Given the description of an element on the screen output the (x, y) to click on. 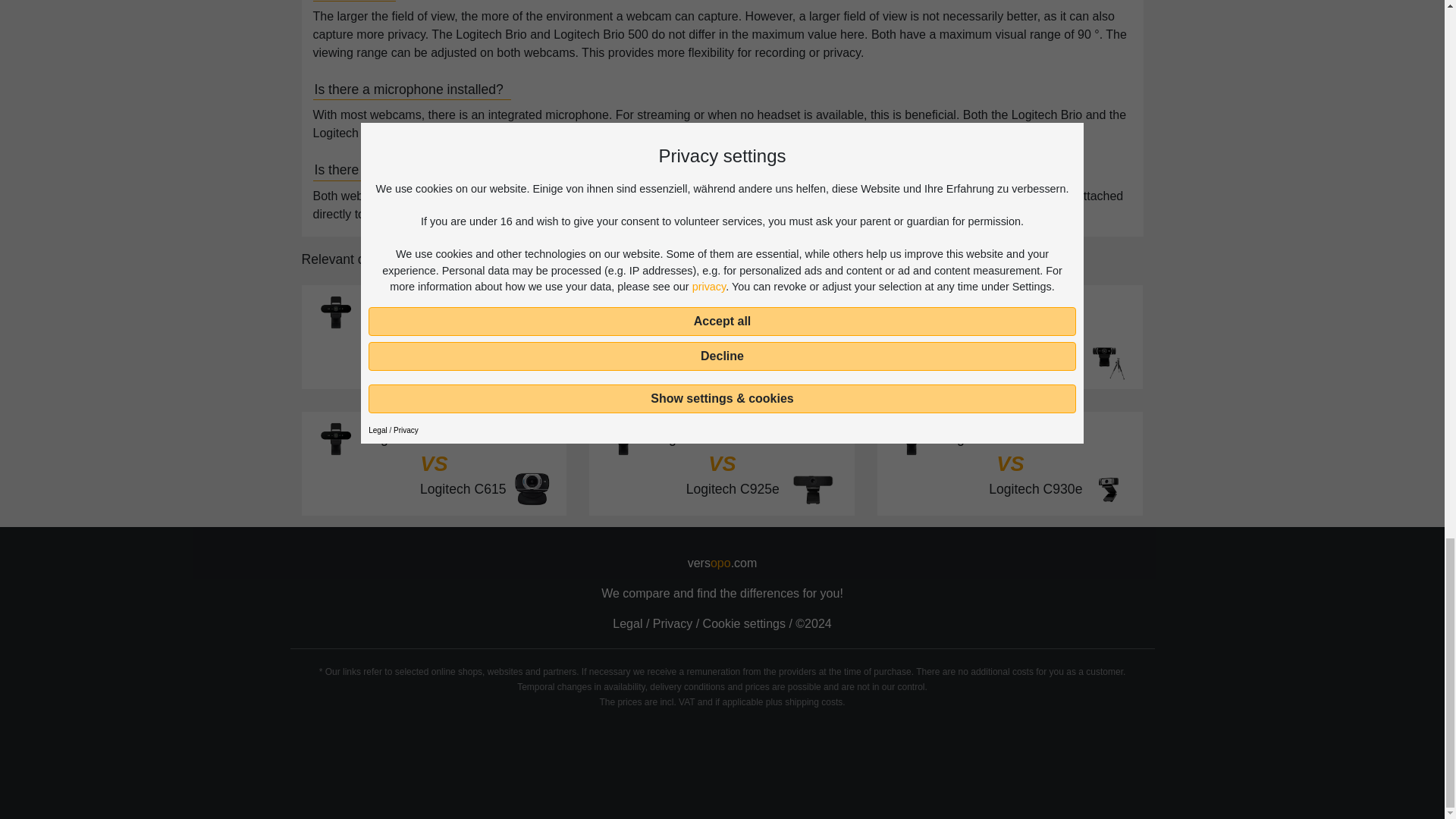
Legal (627, 623)
Privacy (672, 623)
Cookie settings (434, 337)
